Given the description of an element on the screen output the (x, y) to click on. 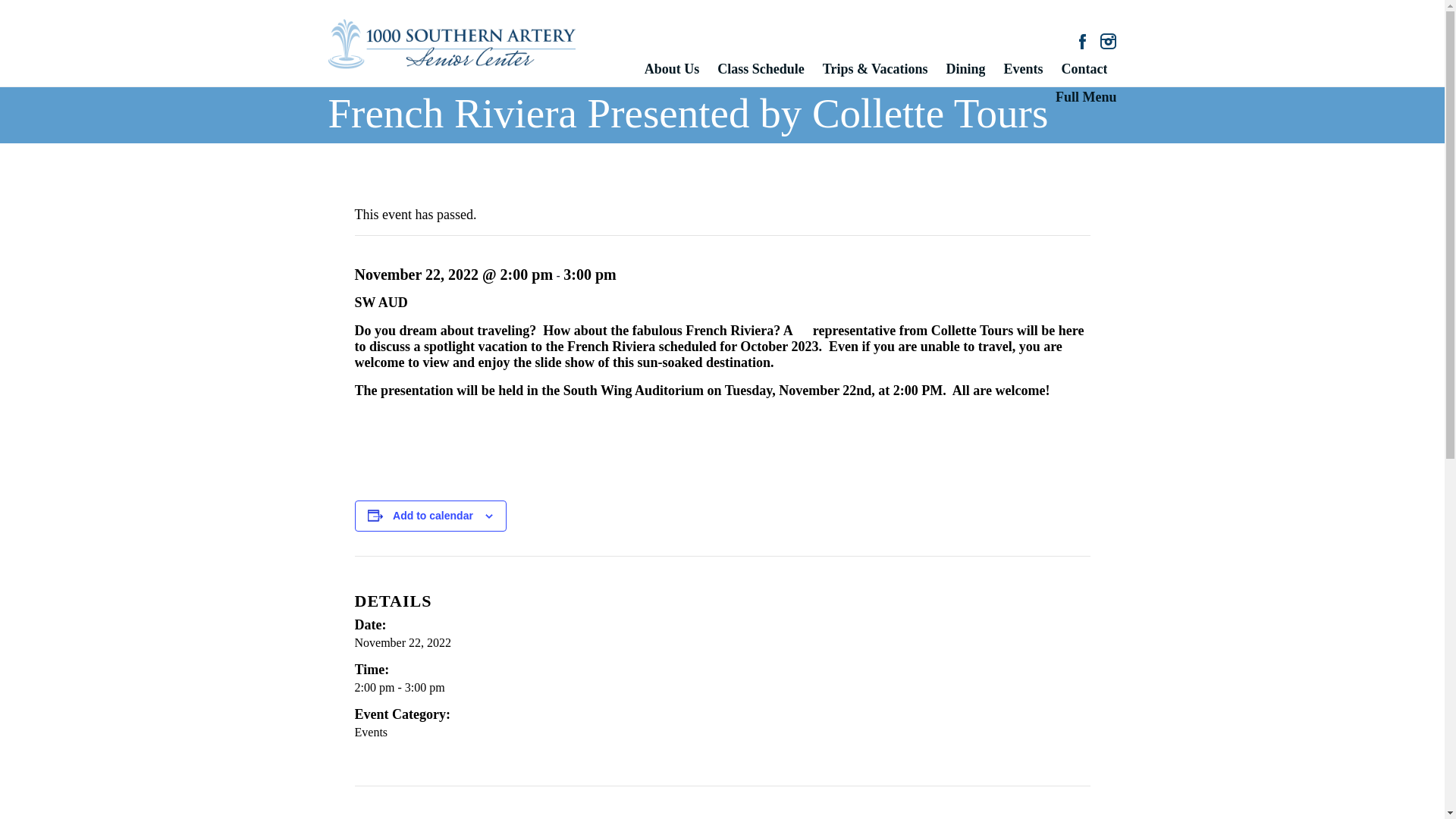
Class Schedule (761, 75)
Dining (964, 75)
Add to calendar (433, 515)
Full Menu (1085, 103)
2022-11-22 (403, 642)
2022-11-22 (713, 687)
About Us (672, 75)
Events (1022, 75)
Contact (1083, 75)
